Given the description of an element on the screen output the (x, y) to click on. 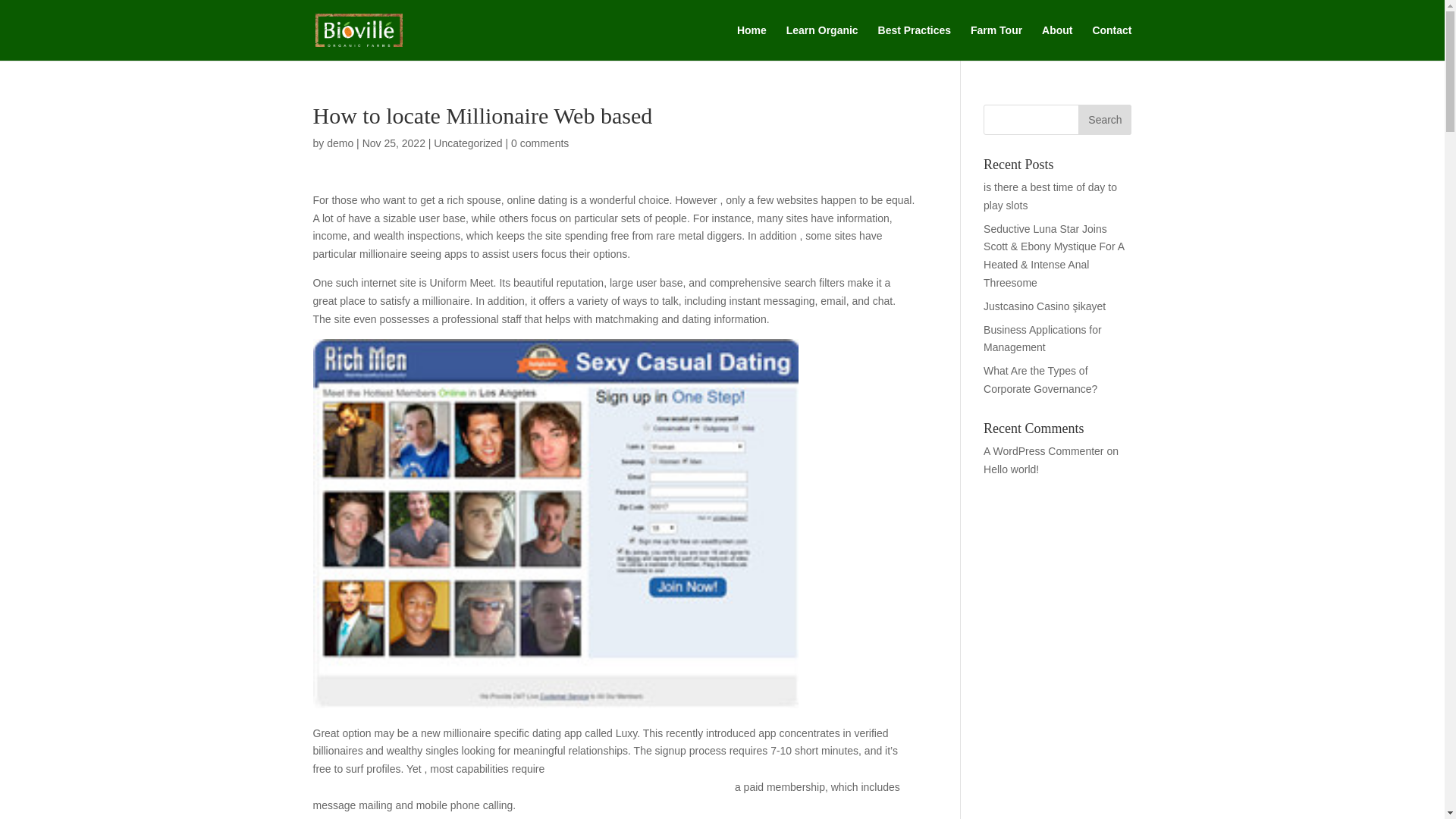
Learn Organic (822, 42)
Business Applications for Management (1043, 338)
Posts by demo (339, 143)
What Are the Types of Corporate Governance? (1040, 379)
Search (1104, 119)
A WordPress Commenter (1043, 451)
Contact (1111, 42)
Farm Tour (996, 42)
Best Practices (914, 42)
Uncategorized (467, 143)
Search (1104, 119)
is there a best time of day to play slots (1050, 195)
0 comments (540, 143)
Hello world! (1011, 469)
demo (339, 143)
